Given the description of an element on the screen output the (x, y) to click on. 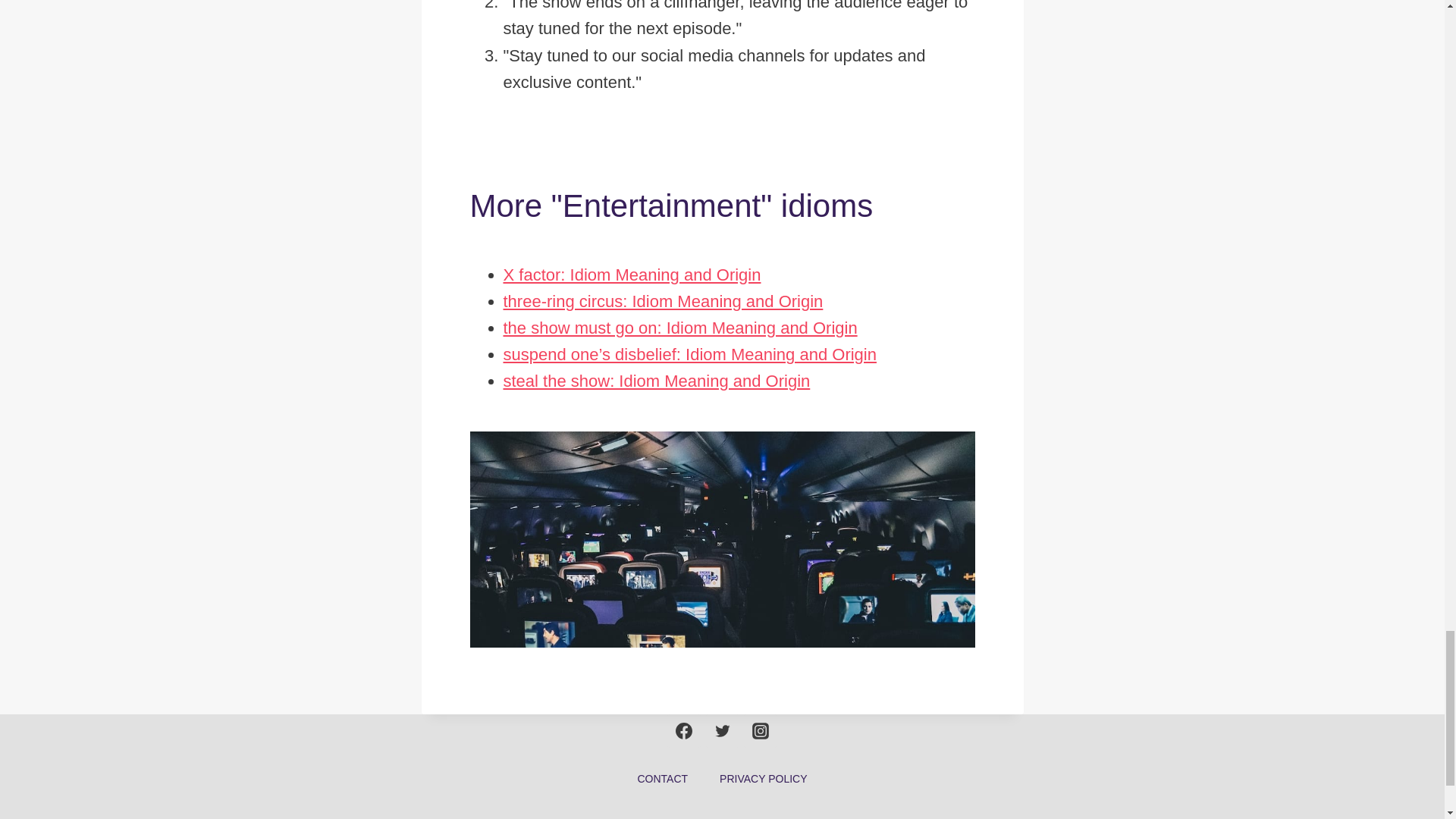
the show must go on: Idiom Meaning and Origin (680, 327)
X factor: Idiom Meaning and Origin (632, 274)
three-ring circus: Idiom Meaning and Origin (663, 301)
